Given the description of an element on the screen output the (x, y) to click on. 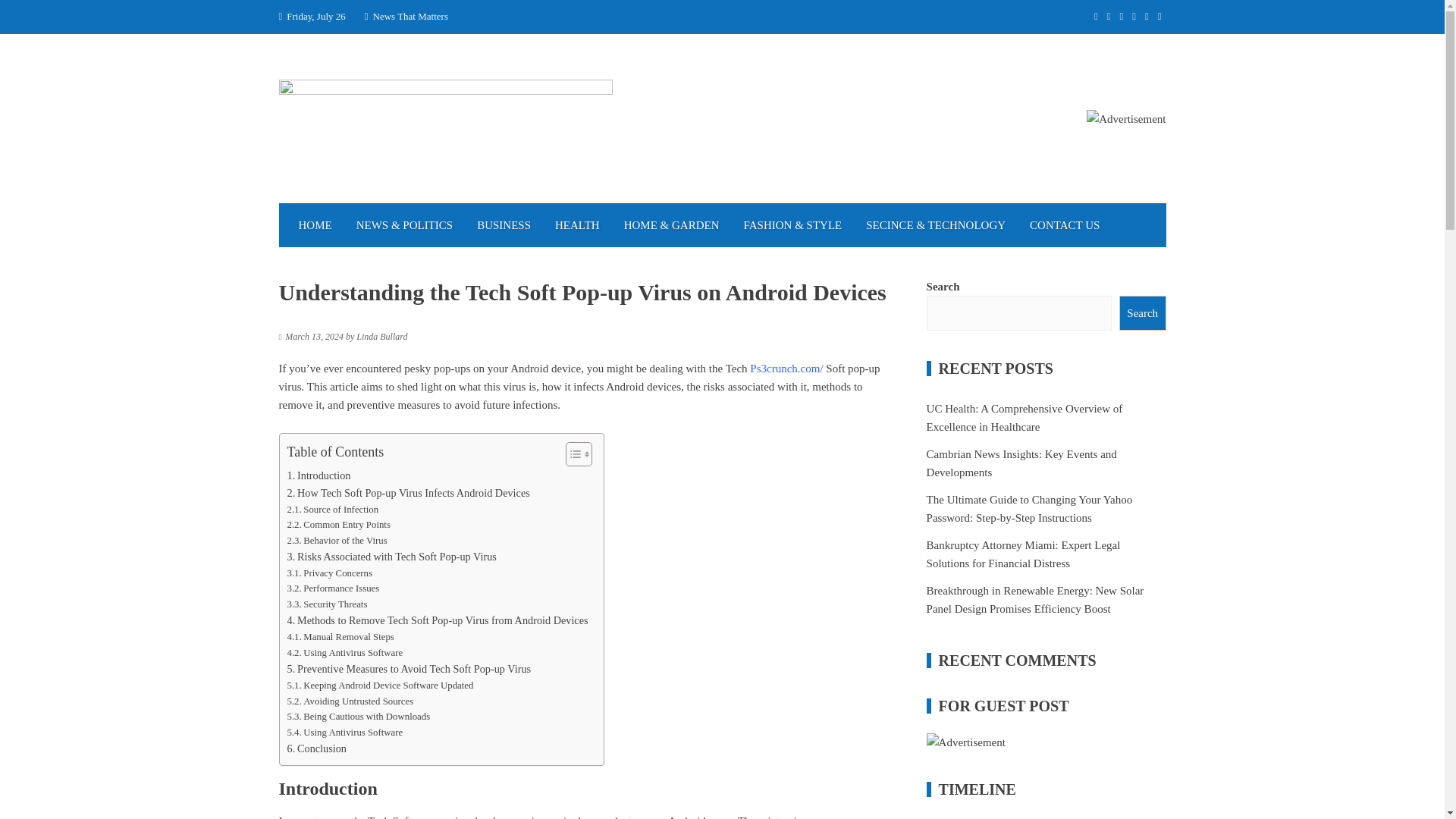
HOME (314, 225)
BUSINESS (503, 225)
Keeping Android Device Software Updated (379, 685)
Introduction (318, 475)
Source of Infection (332, 509)
Risks Associated with Tech Soft Pop-up Virus (391, 556)
How Tech Soft Pop-up Virus Infects Android Devices (407, 493)
Common Entry Points (338, 524)
Preventive Measures to Avoid Tech Soft Pop-up Virus (408, 669)
Security Threats (326, 604)
Performance Issues (332, 588)
Privacy Concerns (329, 573)
Behavior of the Virus (336, 540)
HEALTH (577, 225)
